Given the description of an element on the screen output the (x, y) to click on. 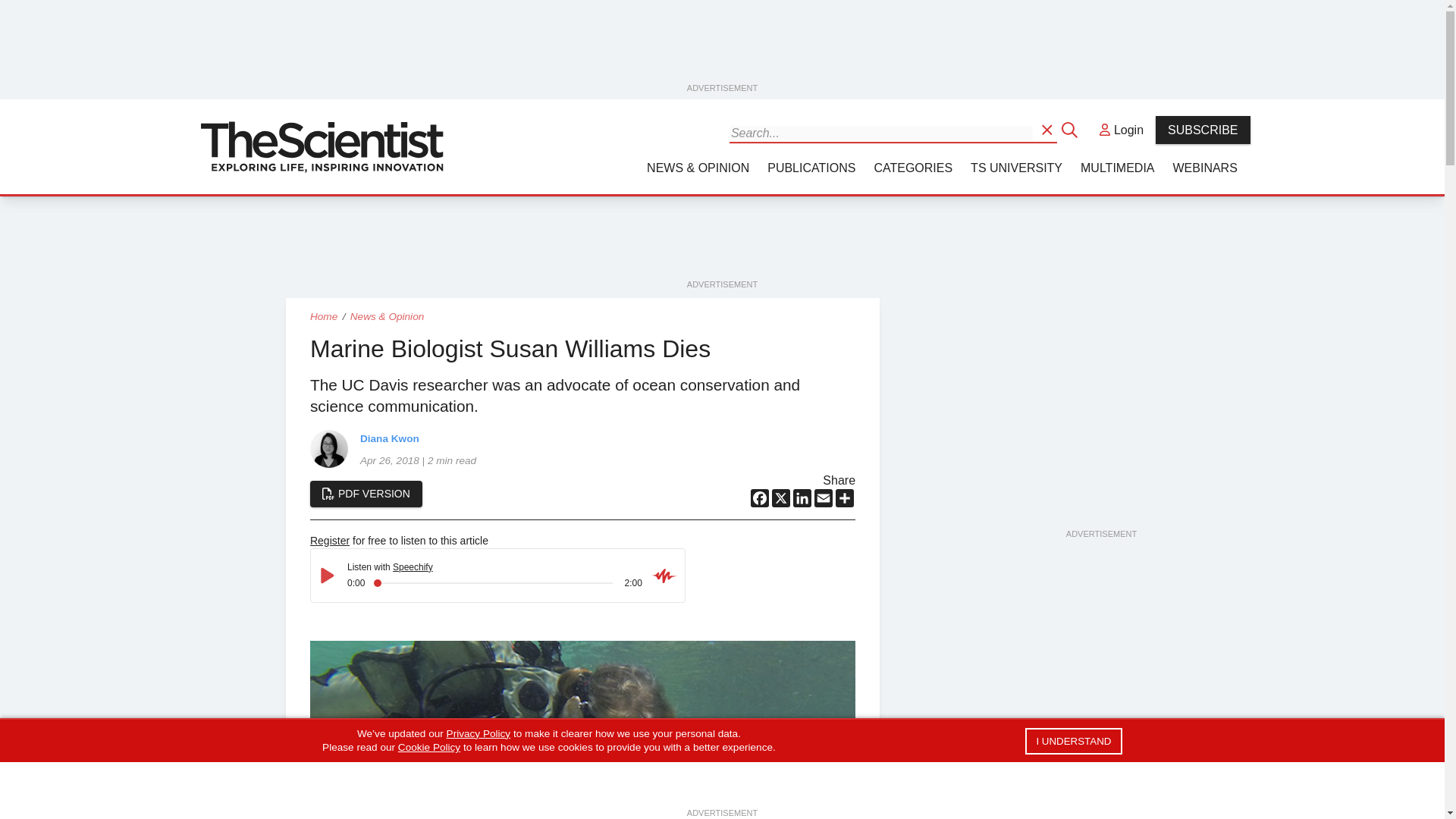
3rd party ad content (722, 46)
Open Search (1049, 129)
3rd party ad content (1100, 432)
3rd party ad content (1100, 775)
Close Search (1071, 129)
3rd party ad content (721, 242)
Diana Kwon (328, 447)
